Given the description of an element on the screen output the (x, y) to click on. 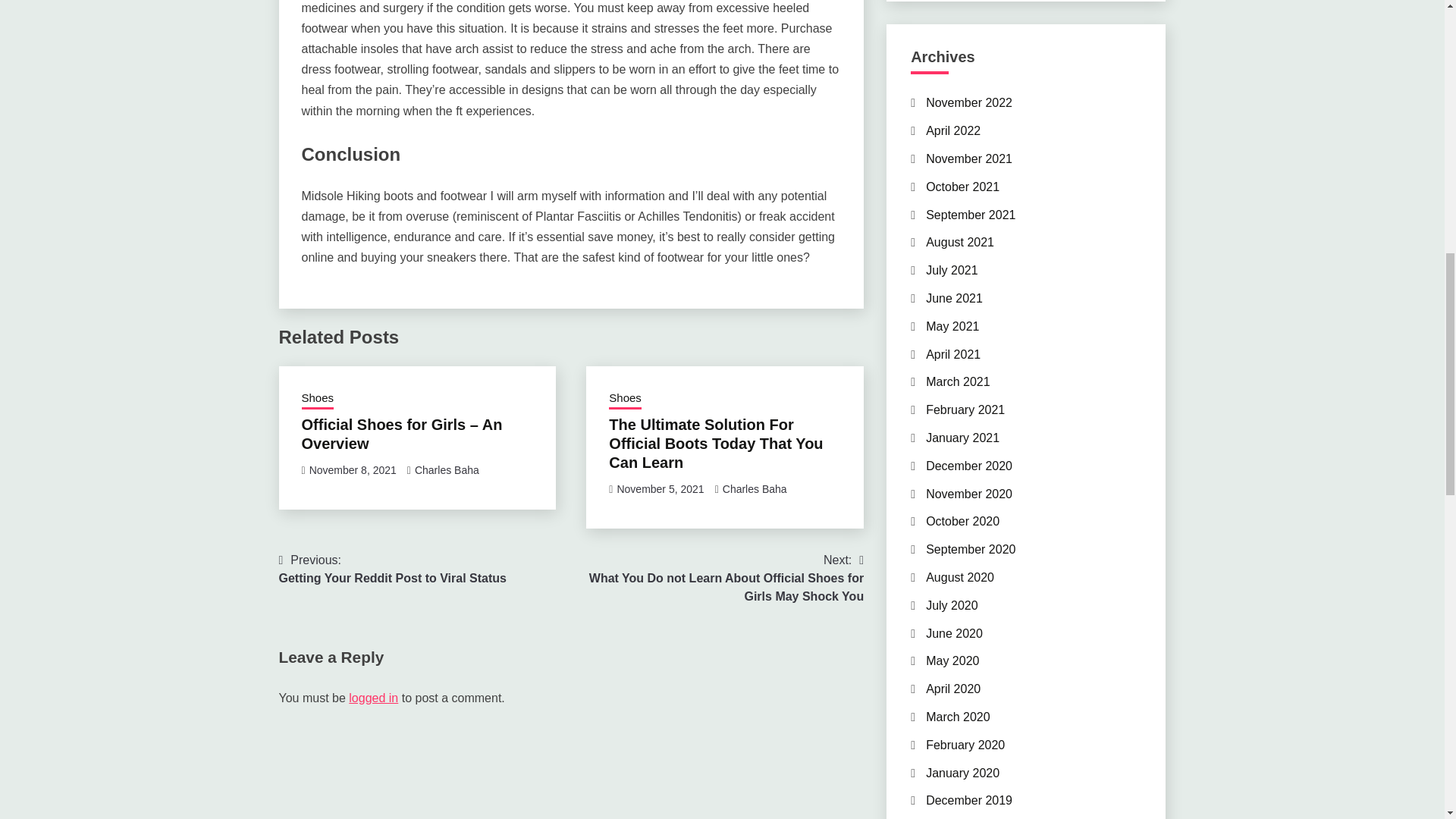
October 2021 (962, 186)
November 8, 2021 (352, 469)
Shoes (625, 399)
logged in (373, 697)
Shoes (317, 399)
Charles Baha (754, 489)
November 2021 (392, 569)
November 5, 2021 (968, 158)
April 2022 (659, 489)
November 2022 (952, 130)
Charles Baha (968, 102)
